Given the description of an element on the screen output the (x, y) to click on. 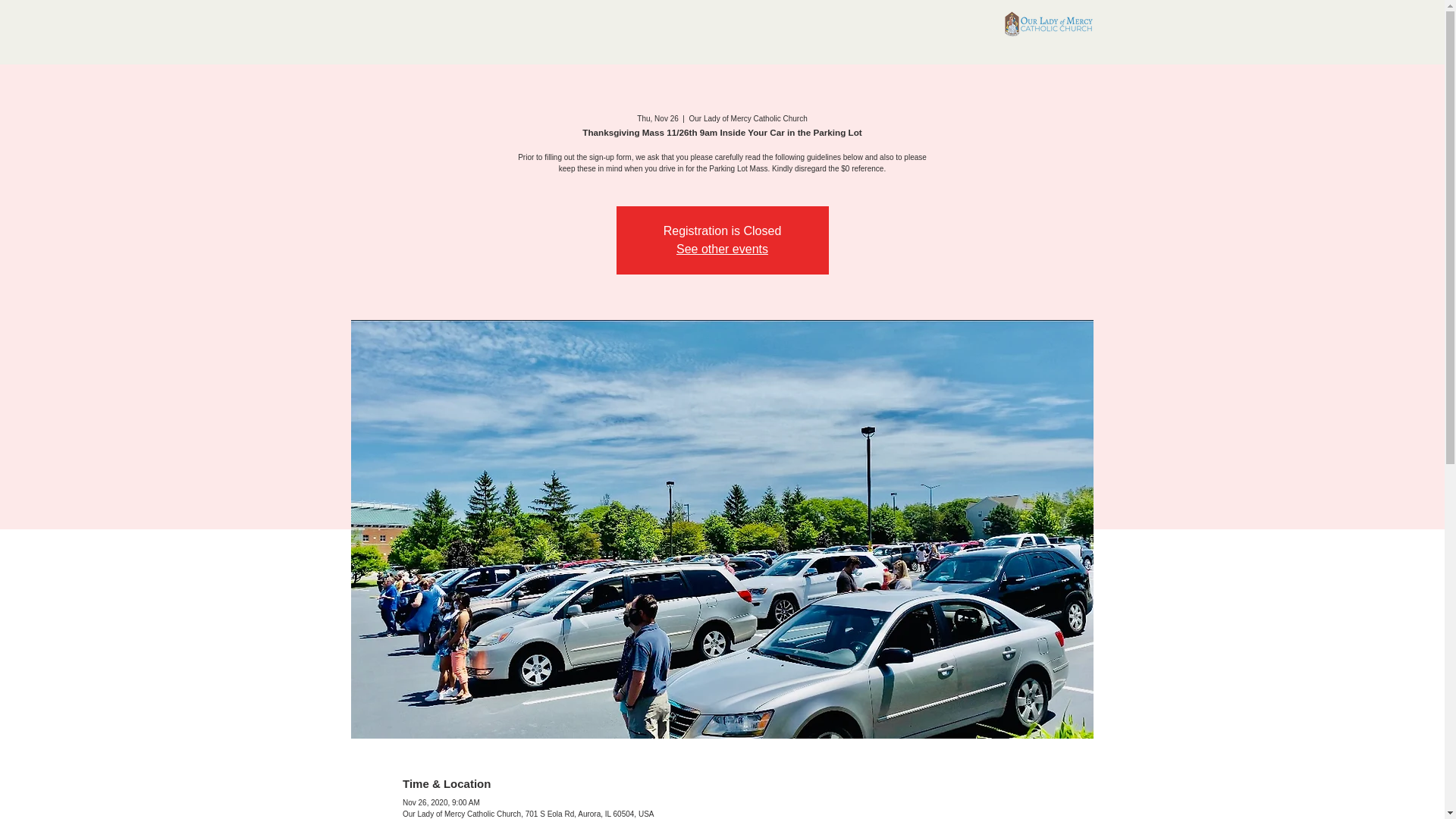
See other events (722, 248)
